Given the description of an element on the screen output the (x, y) to click on. 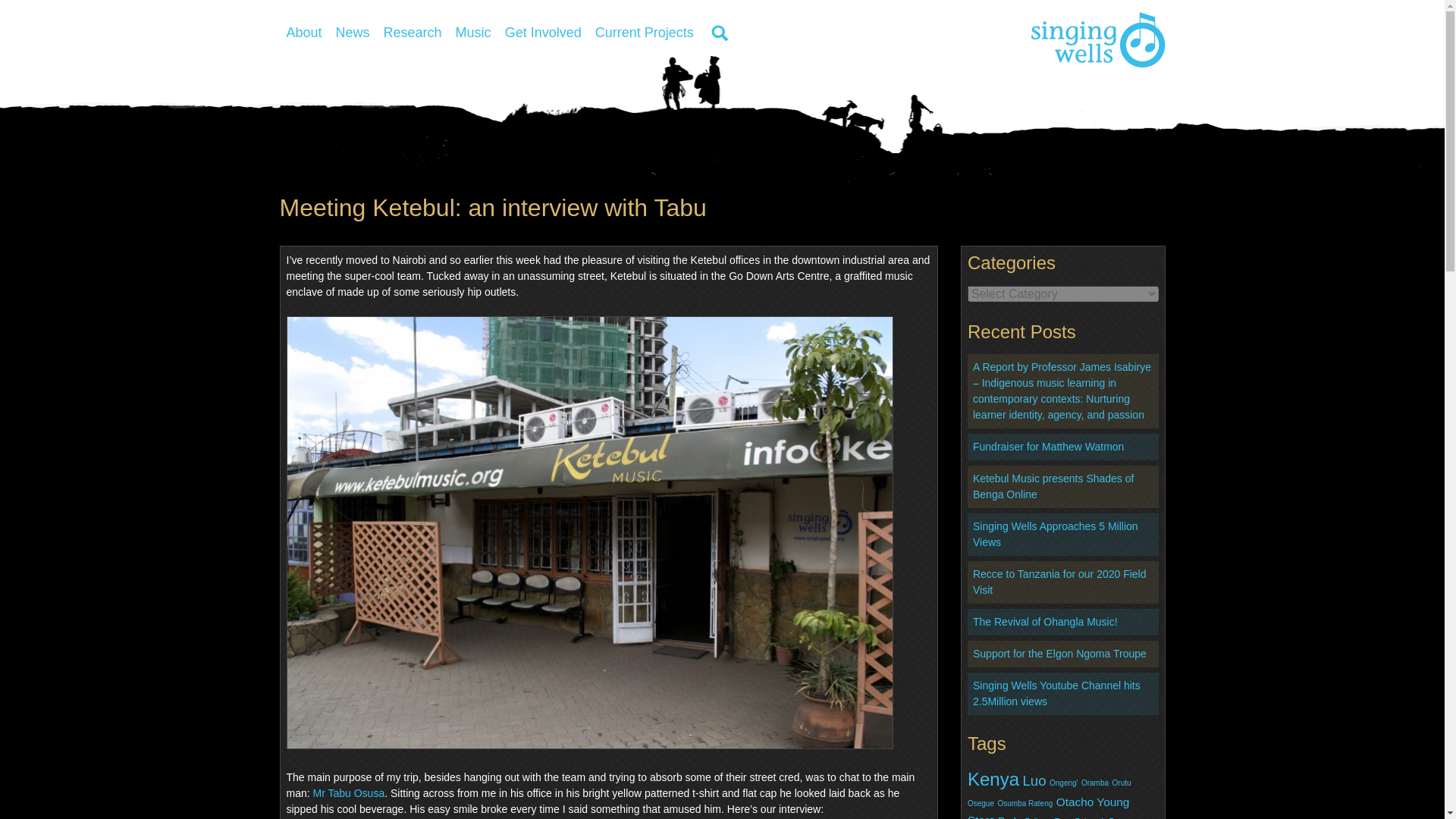
Music (472, 31)
Ketebul Music presents Shades of Benga Online (1053, 486)
Singing Wells (1098, 39)
News (353, 31)
Current Projects (644, 31)
Get Involved (542, 31)
Research (412, 31)
About (304, 31)
Singing Wells (1098, 39)
Fundraiser for Matthew Watmon (1048, 446)
